Given the description of an element on the screen output the (x, y) to click on. 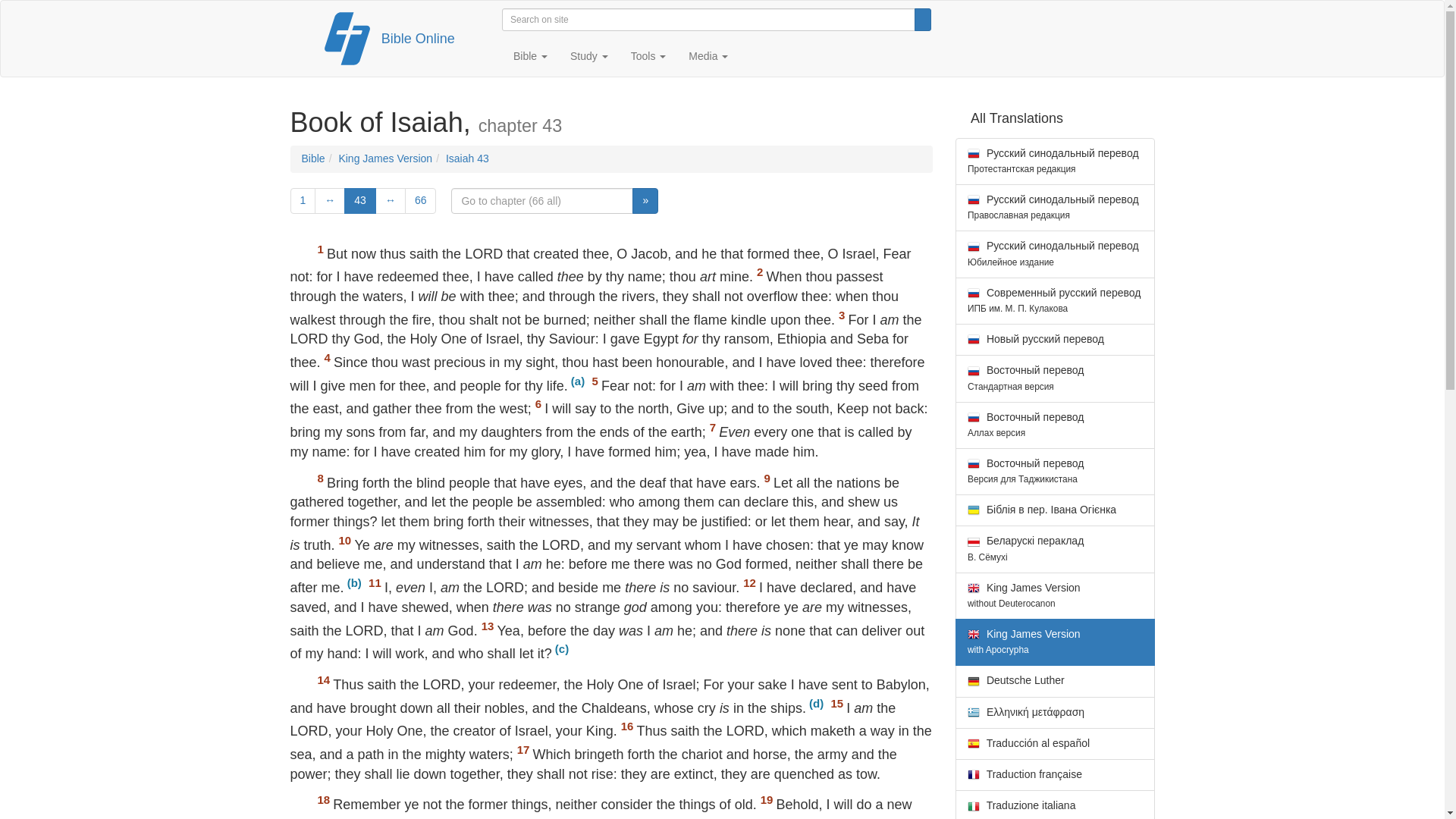
1 (302, 200)
Bible (312, 158)
Isaiah 43 (467, 158)
Tools (649, 55)
Skip to content (304, 15)
Study (589, 55)
Media (708, 55)
Bible (530, 55)
King James Version (384, 158)
Bible Online (417, 38)
